Given the description of an element on the screen output the (x, y) to click on. 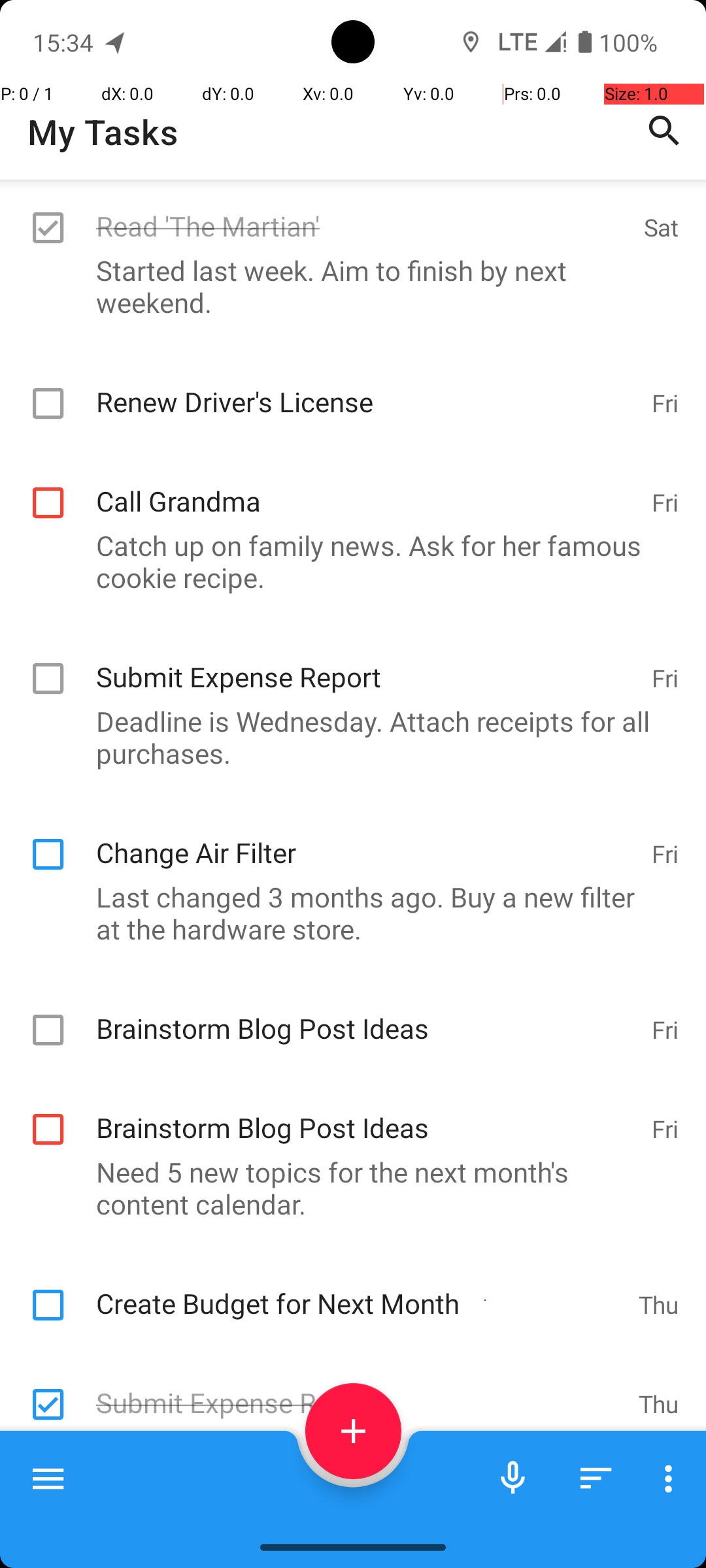
Need 5 new topics for the next month's content calendar. Element type: android.widget.TextView (346, 1187)
